Given the description of an element on the screen output the (x, y) to click on. 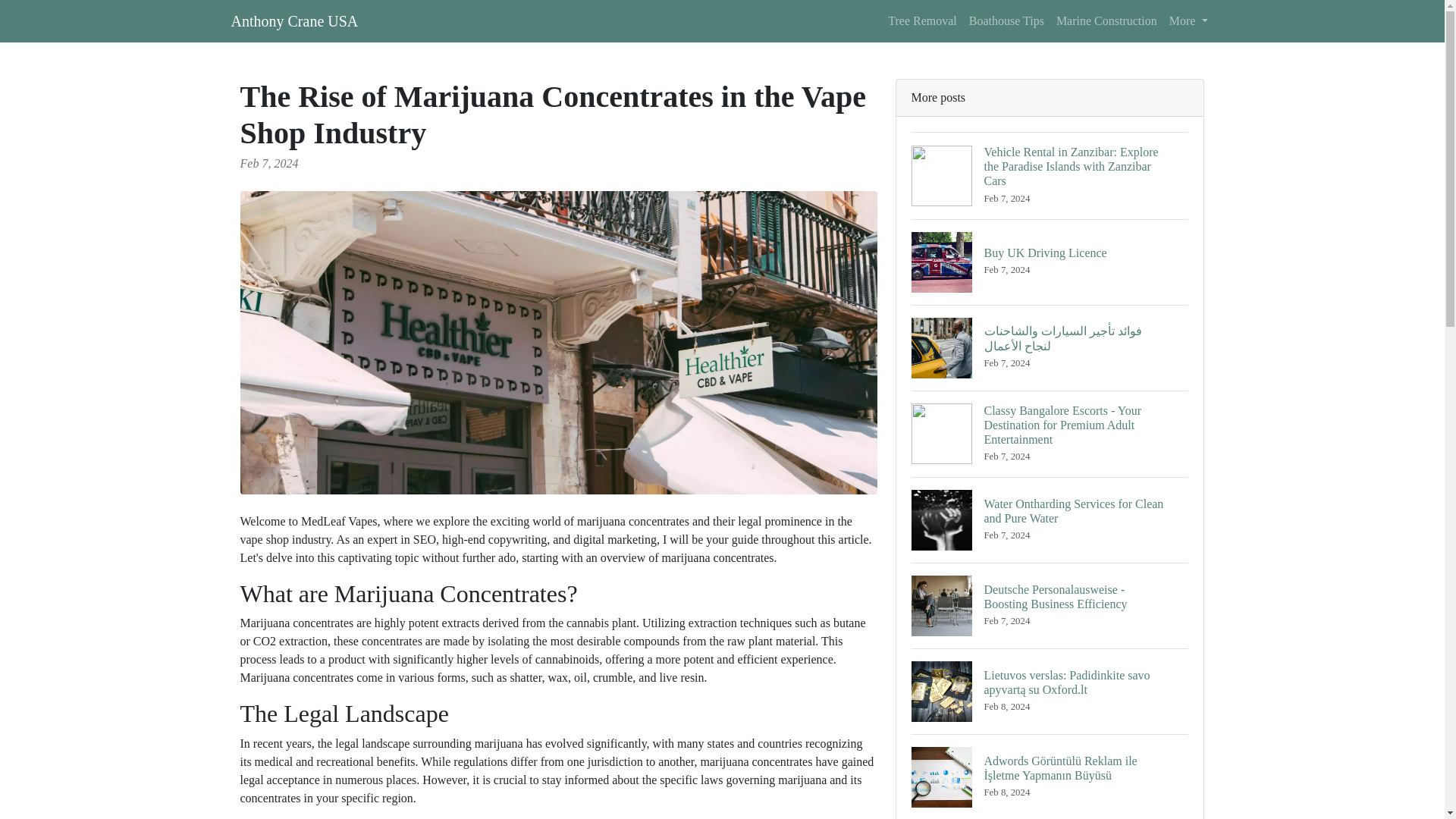
More (1188, 20)
Tree Removal (922, 20)
Anthony Crane USA (294, 20)
Marine Construction (1106, 20)
Boathouse Tips (1005, 20)
